Given the description of an element on the screen output the (x, y) to click on. 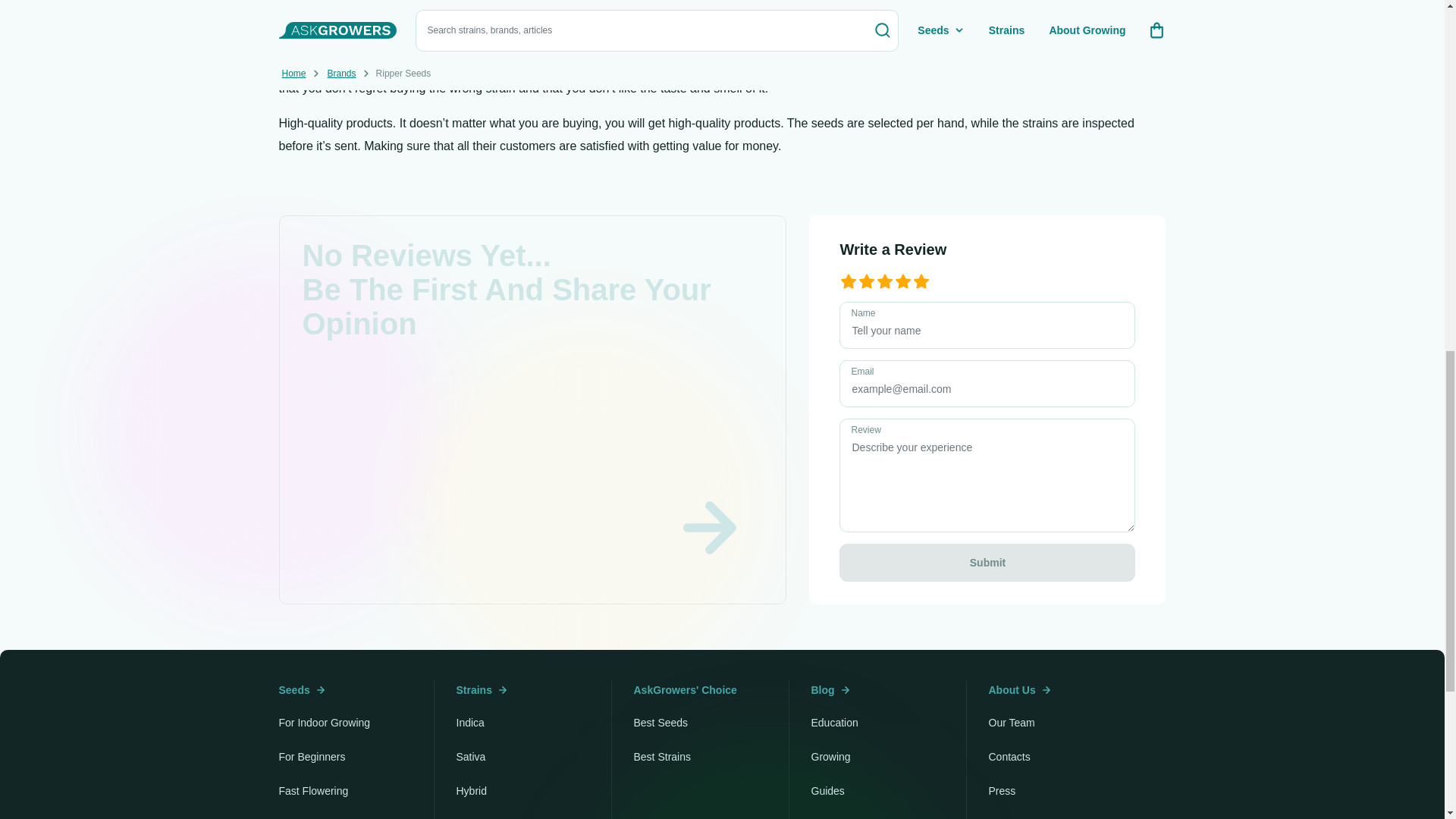
Fast Flowering (314, 790)
For Beginners (312, 756)
Submit (987, 562)
Seeds (301, 690)
For Indoor Growing (325, 722)
